Given the description of an element on the screen output the (x, y) to click on. 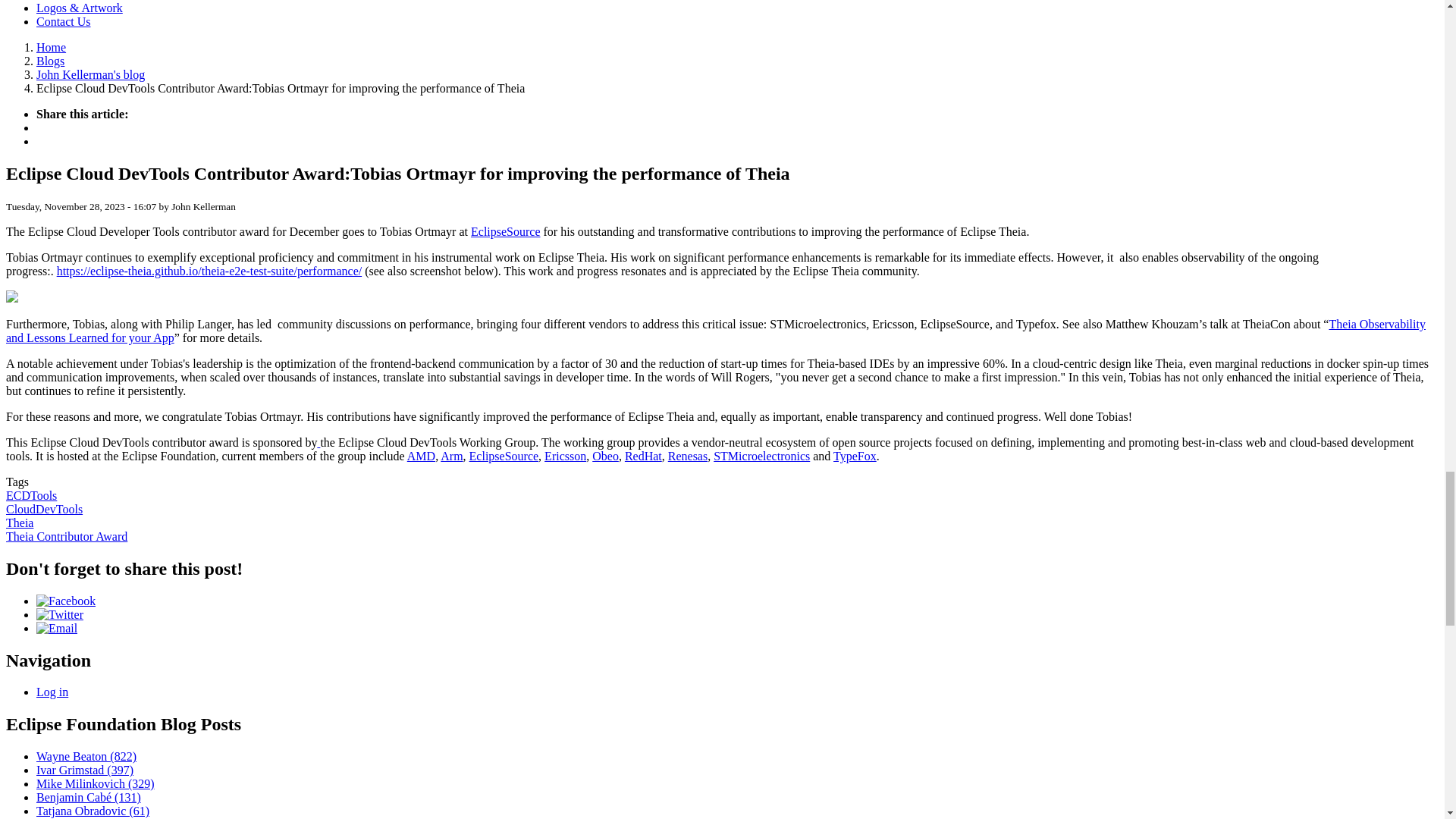
Facebook (66, 600)
Email (56, 627)
Twitter (59, 614)
